Given the description of an element on the screen output the (x, y) to click on. 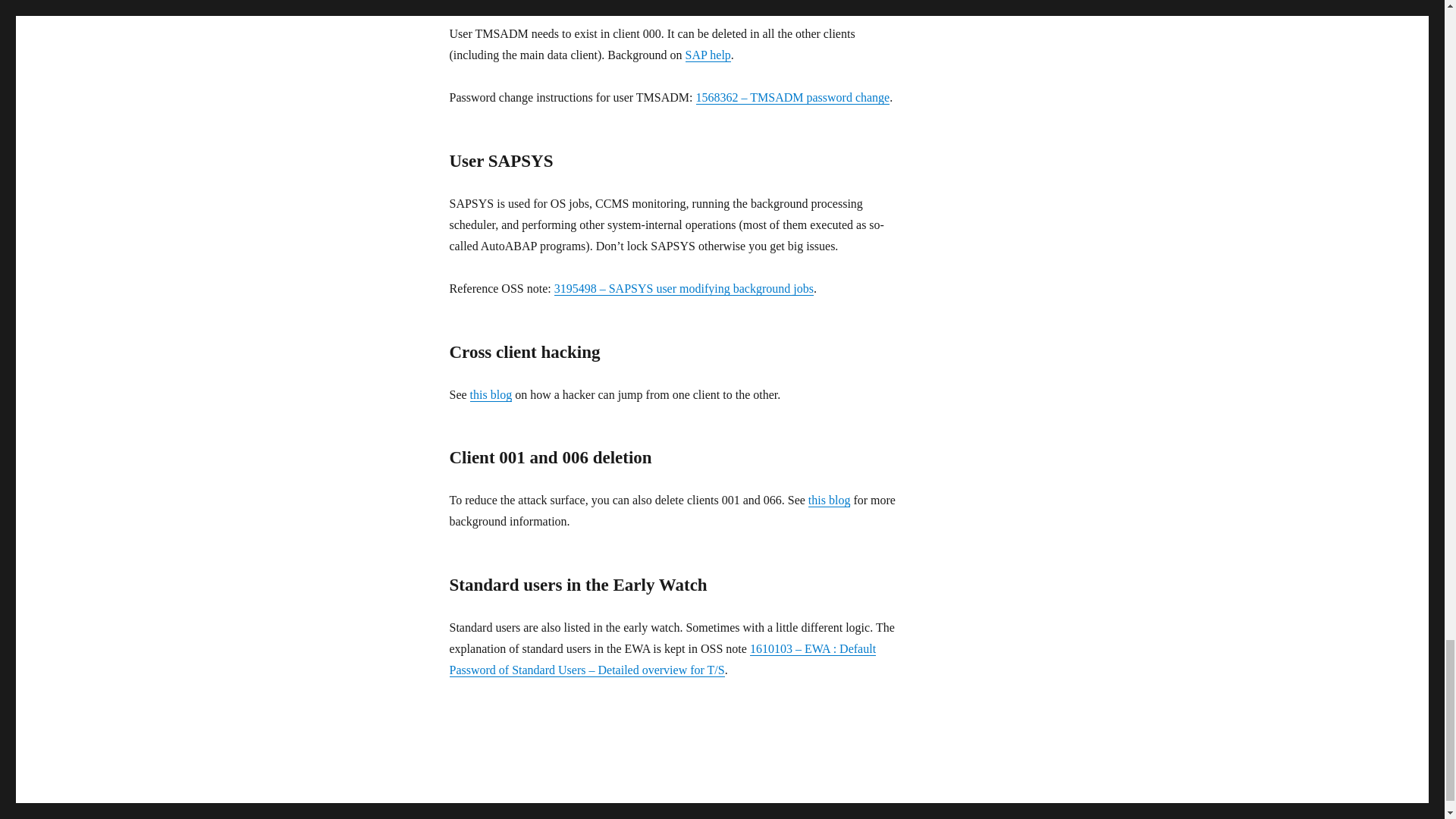
this blog (491, 394)
this blog (829, 499)
SAP help (707, 54)
